Given the description of an element on the screen output the (x, y) to click on. 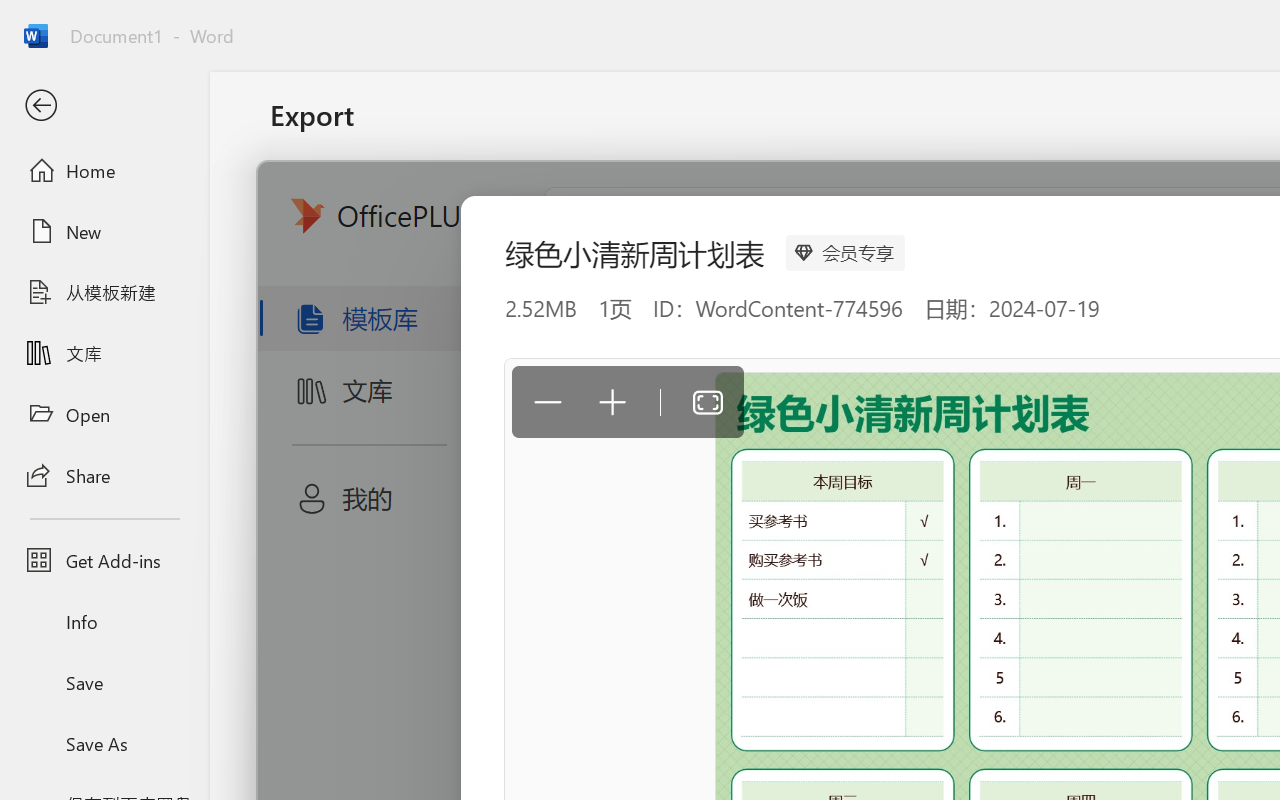
Info (104, 621)
Back (104, 106)
Save As (104, 743)
New (104, 231)
Get Add-ins (104, 560)
